Given the description of an element on the screen output the (x, y) to click on. 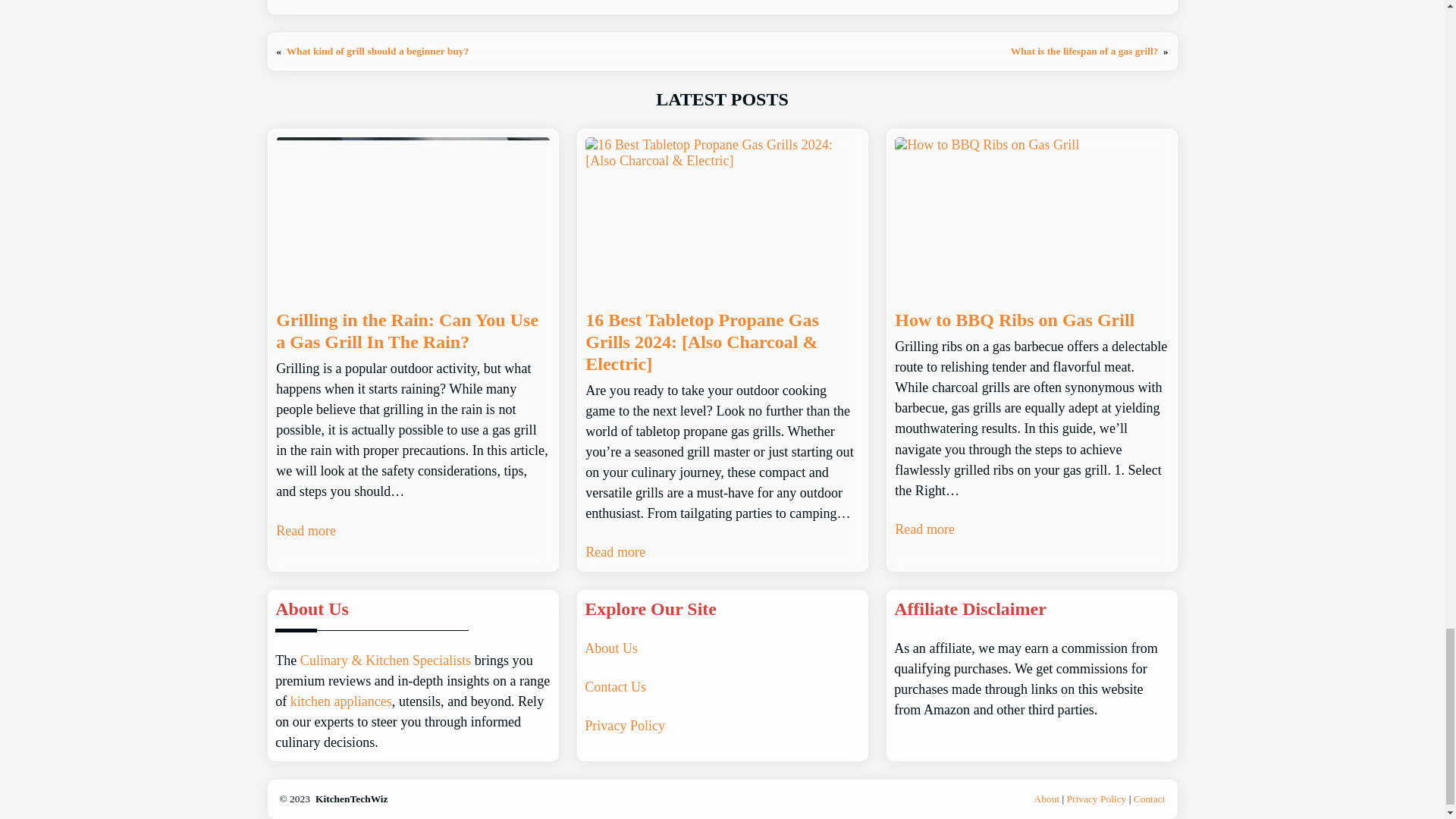
About Us (611, 648)
kitchen appliances (340, 701)
Read more (306, 530)
What is the lifespan of a gas grill? (1083, 50)
Read more (615, 552)
What kind of grill should a beginner buy? (377, 50)
How to BBQ Ribs on Gas Grill (1014, 320)
Grilling in the Rain: Can You Use a Gas Grill In The Rain? (413, 330)
Read more (925, 529)
